Given the description of an element on the screen output the (x, y) to click on. 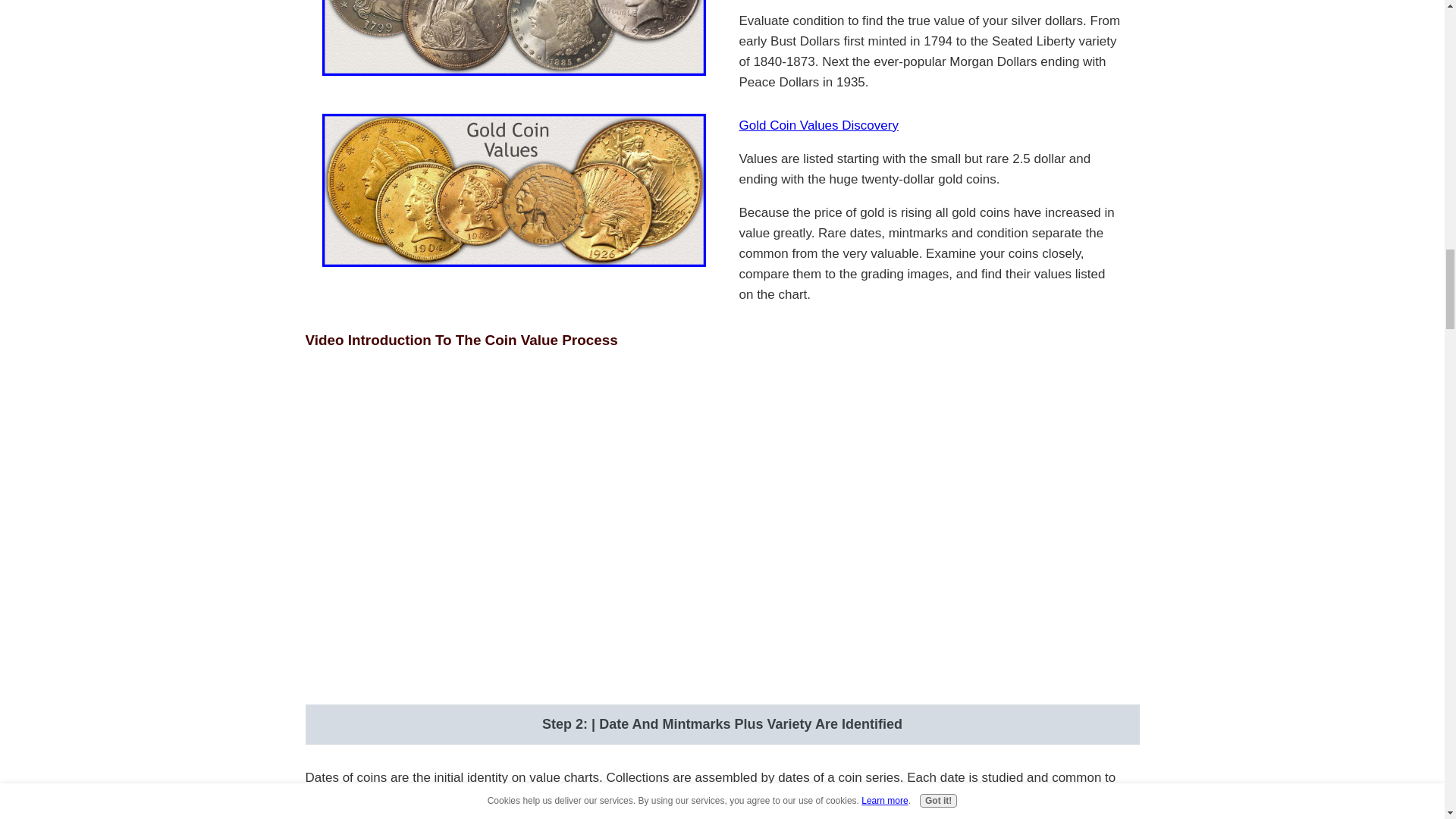
Visit...  US Gold Coins (512, 189)
